Given the description of an element on the screen output the (x, y) to click on. 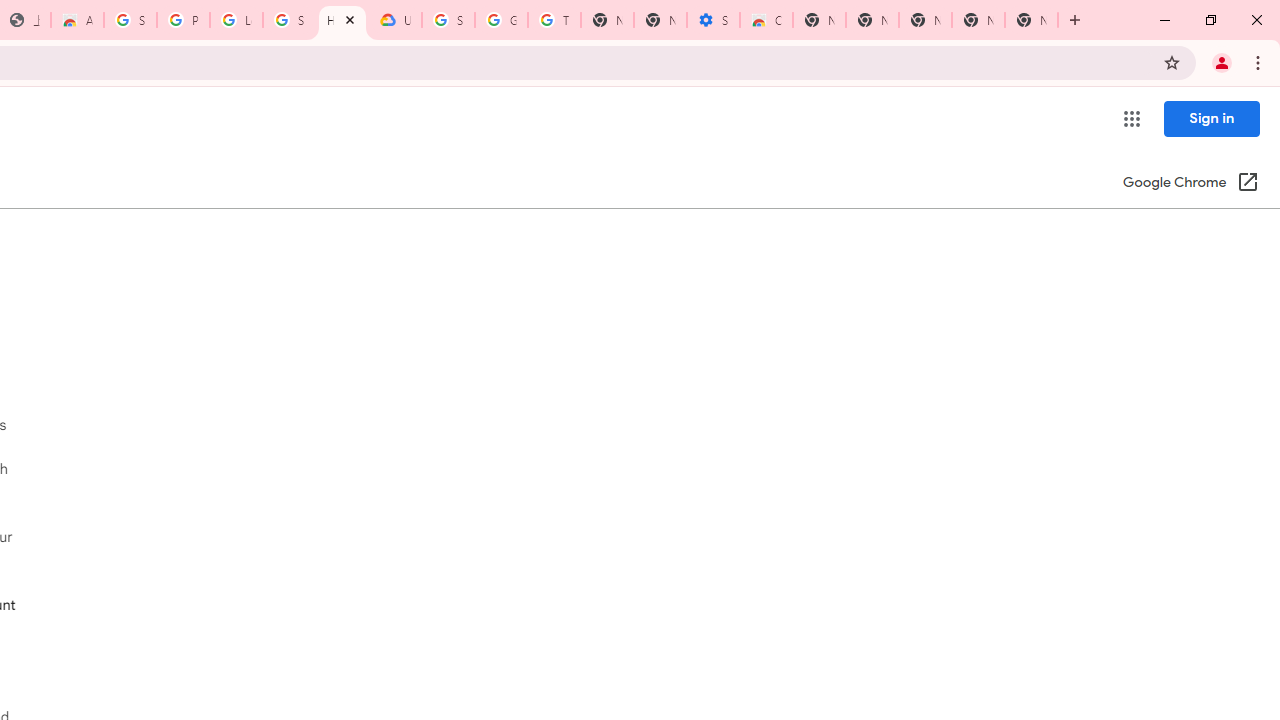
Sign in - Google Accounts (289, 20)
Turn cookies on or off - Computer - Google Account Help (554, 20)
